Given the description of an element on the screen output the (x, y) to click on. 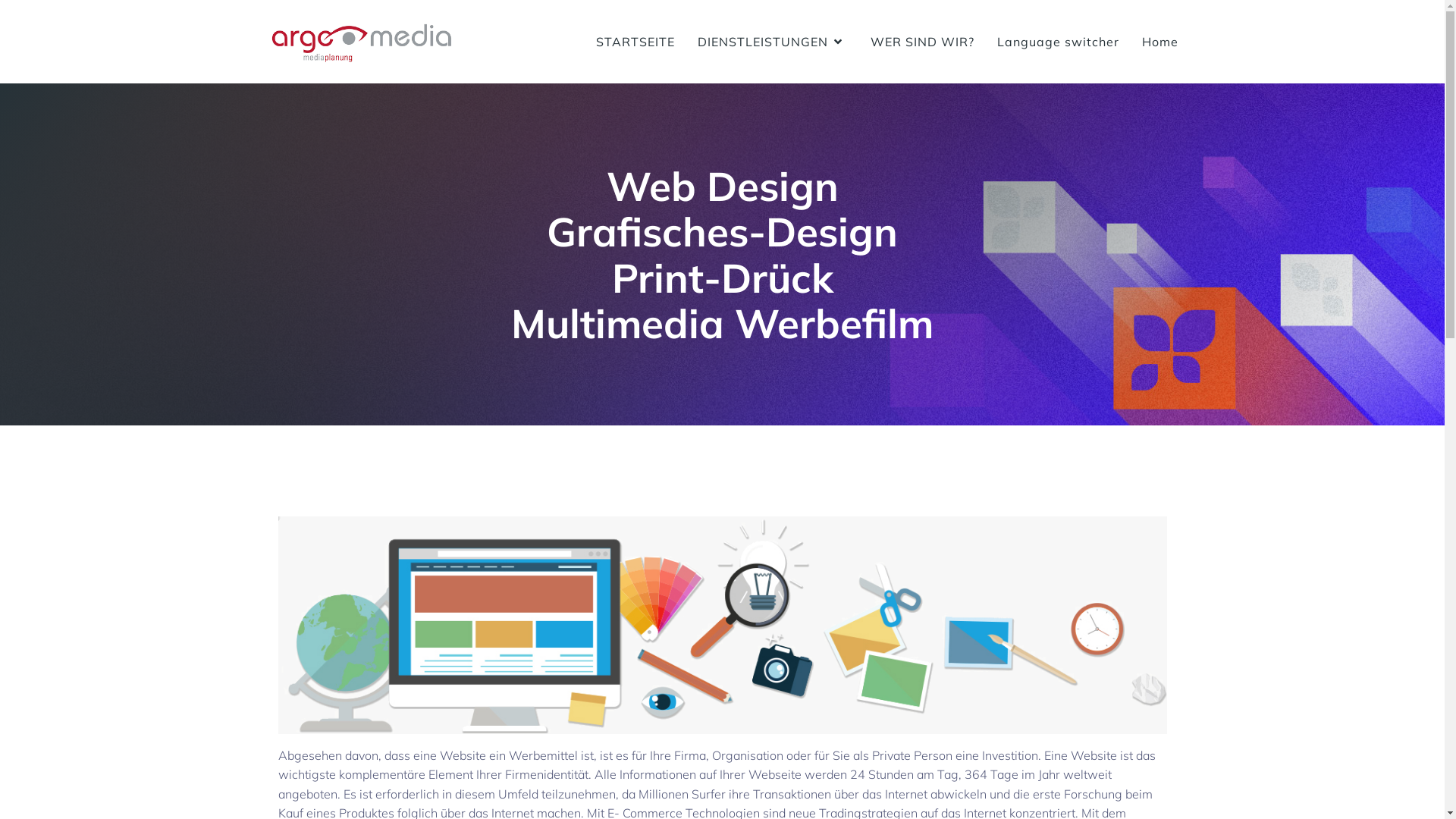
STARTSEITE Element type: text (635, 41)
Home Element type: text (1160, 41)
WER SIND WIR? Element type: text (922, 41)
DIENSTLEISTUNGEN Element type: text (772, 41)
Language switcher Element type: text (1057, 41)
